Given the description of an element on the screen output the (x, y) to click on. 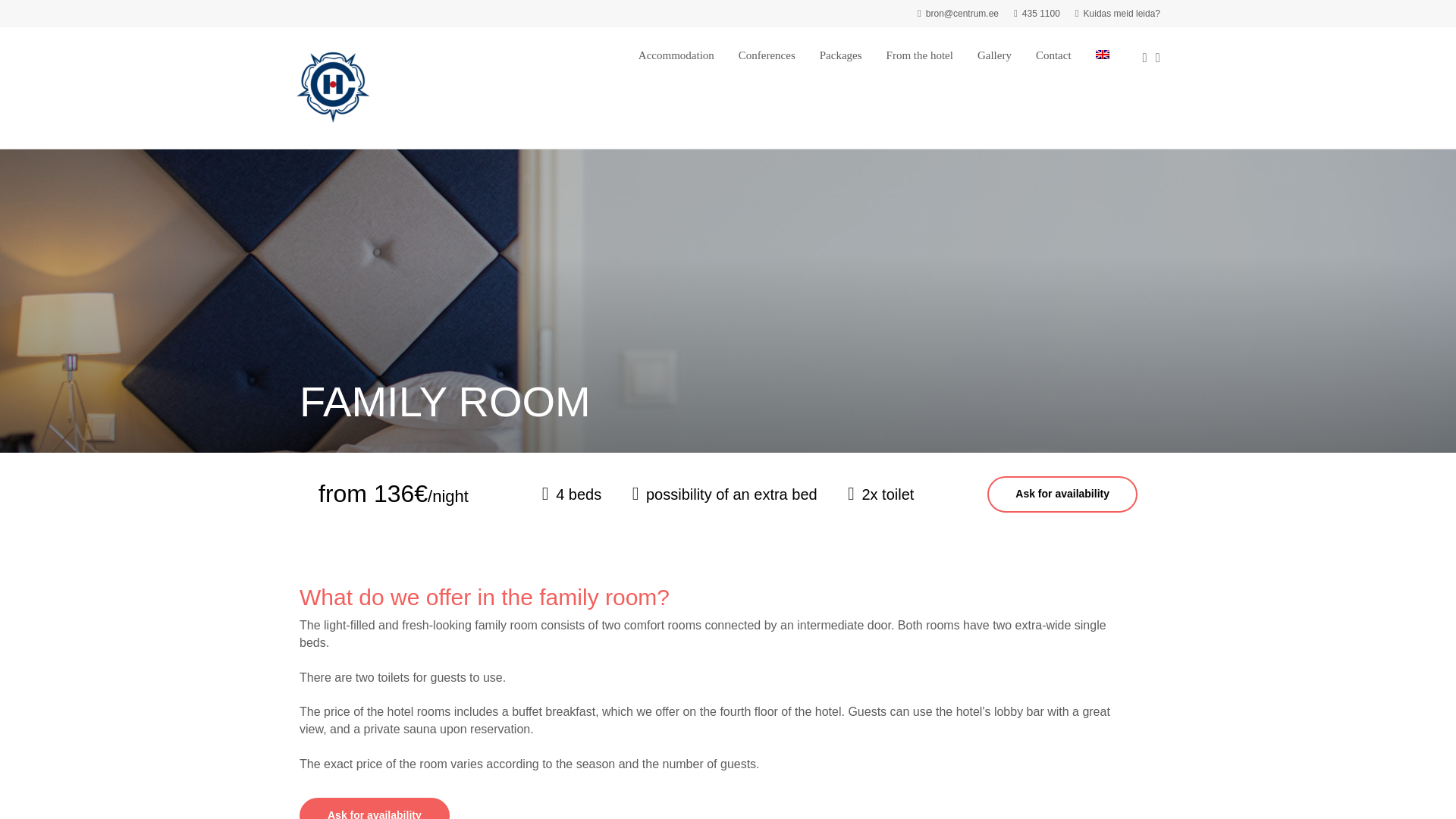
Packages (840, 55)
435 1100 (1036, 13)
Kuidas meid leida? (1117, 13)
Contact (1053, 55)
From the hotel (919, 55)
Gallery (993, 55)
Conferences (766, 55)
Ask for availability (1062, 493)
Ask for availability (374, 808)
Accommodation (676, 55)
